Given the description of an element on the screen output the (x, y) to click on. 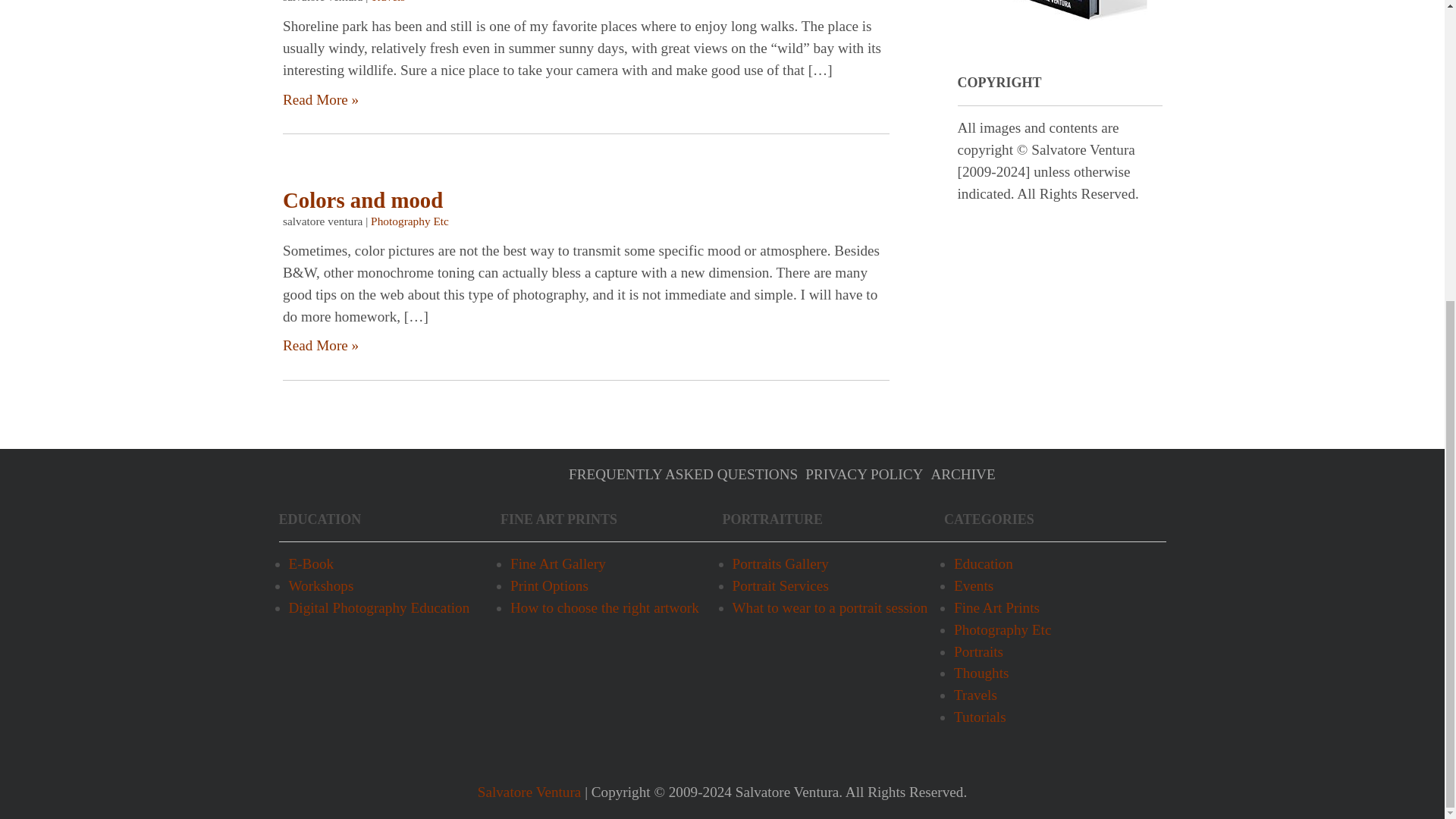
Colors and mood (362, 200)
Travels (386, 2)
FREQUENTLY ASKED QUESTIONS (683, 474)
PRIVACY POLICY (864, 474)
Photography Etc (409, 220)
ARCHIVE (962, 474)
